Given the description of an element on the screen output the (x, y) to click on. 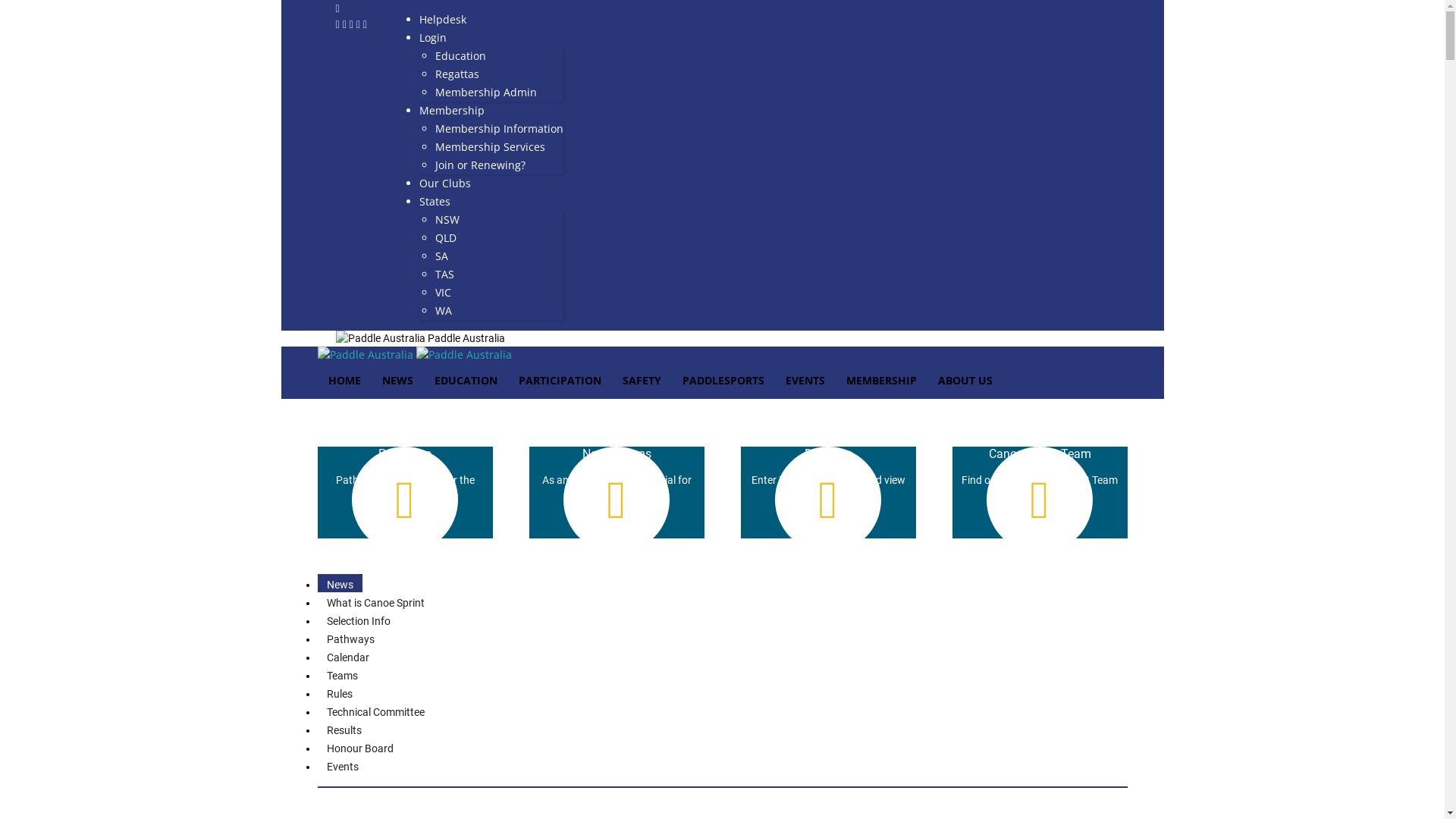
Youtube Element type: hover (365, 23)
Join or Renewing? Element type: text (480, 164)
NEWS Element type: text (397, 380)
Login Element type: text (432, 37)
Regattas Element type: text (457, 73)
Selection Info Element type: text (357, 620)
Linkedin Element type: hover (352, 23)
WA Element type: text (443, 310)
News Element type: text (338, 584)
Facebook Element type: hover (338, 23)
VIC Element type: text (443, 292)
ABOUT US Element type: text (964, 380)
PARTICIPATION Element type: text (559, 380)
Rules Element type: text (338, 693)
Membership Services Element type: text (490, 146)
Twitter Element type: hover (359, 23)
MEMBERSHIP Element type: text (881, 380)
Our Clubs Element type: text (444, 182)
Teams Element type: text (341, 675)
Instagram Element type: hover (345, 23)
Helpdesk Element type: text (442, 19)
States Element type: text (434, 201)
PADDLESPORTS Element type: text (723, 380)
Membership Element type: text (451, 110)
SA Element type: text (441, 255)
Paddle Australia Element type: text (419, 338)
HOME Element type: text (343, 380)
Honour Board Element type: text (358, 747)
EVENTS Element type: text (805, 380)
Pathways Element type: text (349, 638)
Membership Admin Element type: text (485, 91)
Education Element type: text (460, 55)
EDUCATION Element type: text (465, 380)
Search Element type: text (1402, 441)
Technical Committee Element type: text (374, 711)
Events Element type: text (341, 766)
SAFETY Element type: text (641, 380)
What is Canoe Sprint Element type: text (374, 602)
QLD Element type: text (445, 237)
TAS Element type: text (444, 273)
NSW Element type: text (447, 219)
Membership Information Element type: text (499, 128)
Calendar Element type: text (346, 656)
Results Element type: text (343, 729)
